Given the description of an element on the screen output the (x, y) to click on. 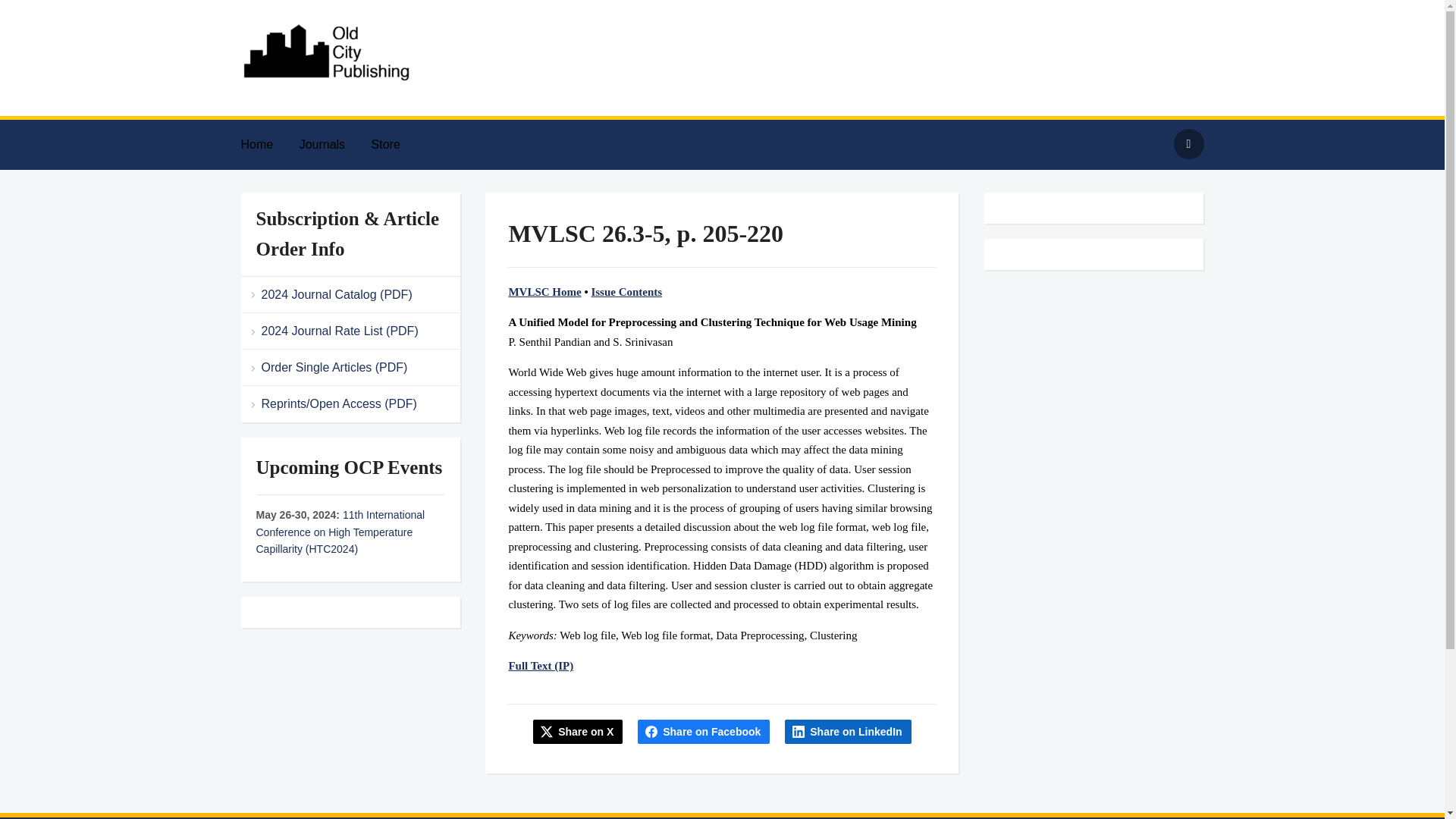
Store (397, 144)
Share on Facebook (703, 731)
Share on X (577, 731)
MVLSC Home (544, 291)
Share on LinkedIn (847, 731)
Share this on X (577, 731)
Search (1188, 143)
Journals (333, 144)
Share this on Facebook (703, 731)
Share on LinkedIn (847, 731)
